Given the description of an element on the screen output the (x, y) to click on. 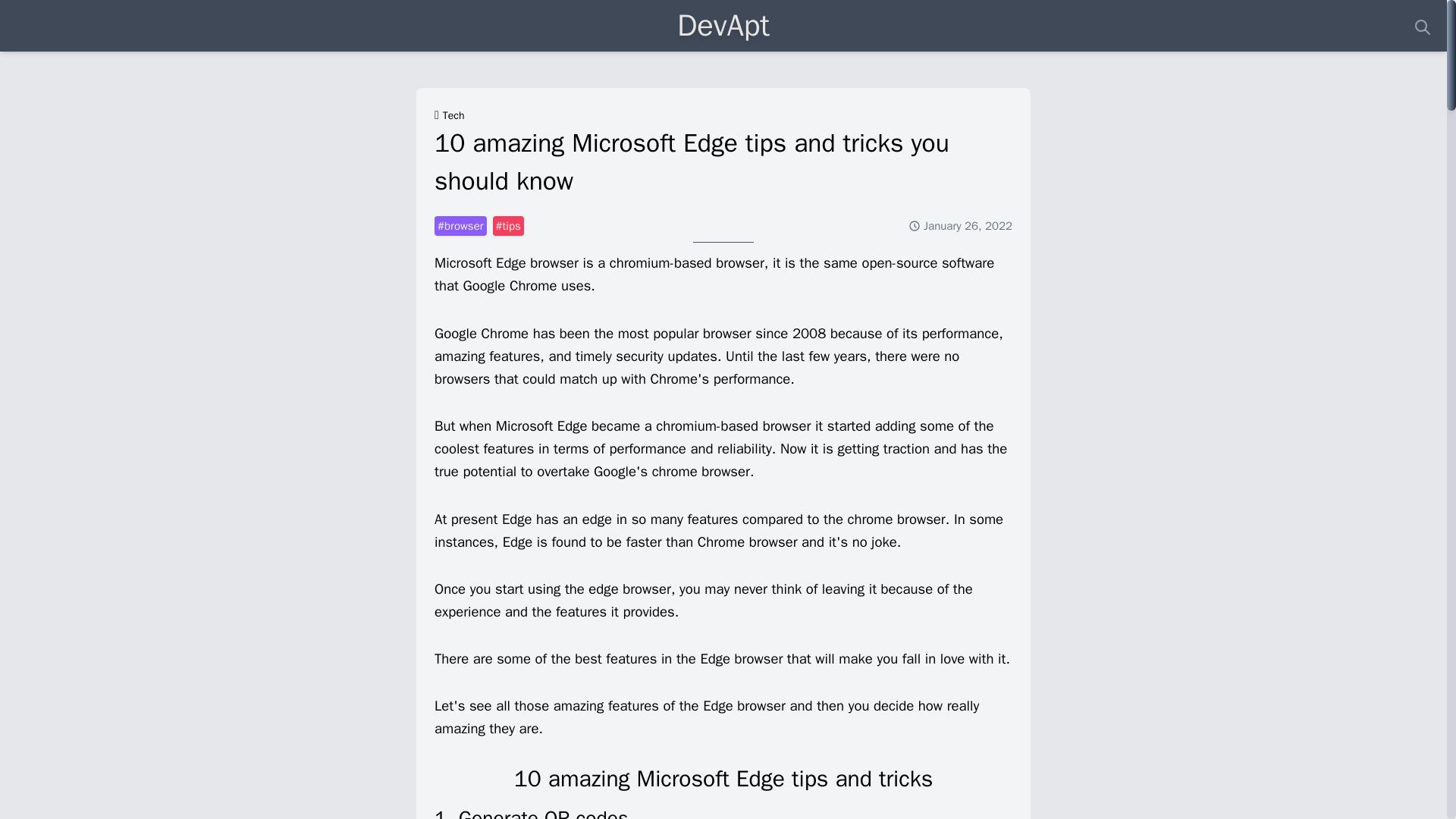
Tech (453, 115)
DevApt (723, 25)
